Given the description of an element on the screen output the (x, y) to click on. 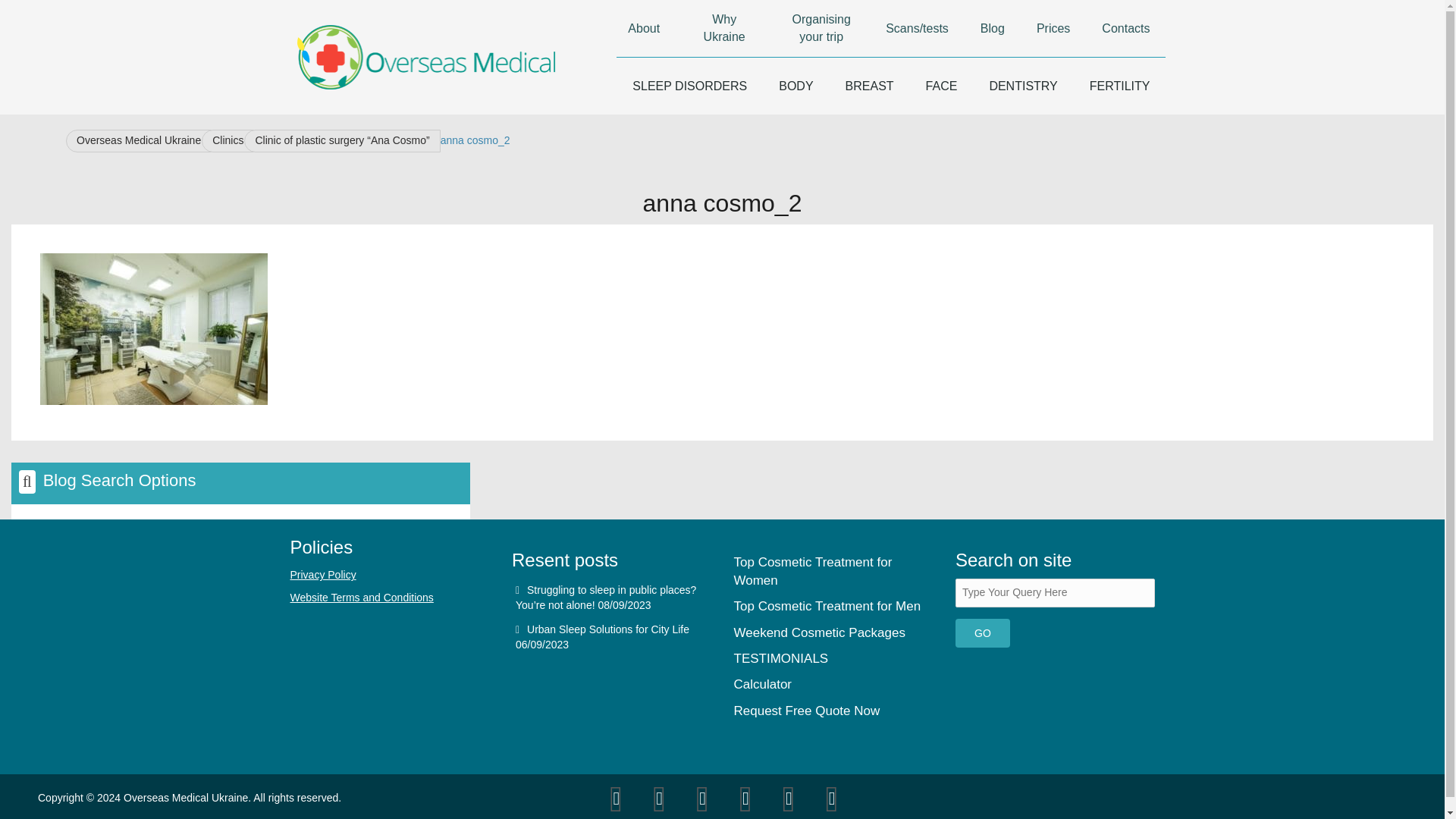
Google-plus (660, 799)
Contacts (1126, 28)
Blog (991, 28)
About (643, 28)
Prices (1053, 28)
Linkedin (788, 799)
BODY (795, 85)
Go to Clinics. (232, 140)
Why Ukraine (724, 28)
Youtube (744, 799)
Go to Overseas Medical Ukraine. (143, 140)
Twitter (616, 799)
Facebook (702, 799)
Instagram (831, 799)
Organising your trip (821, 28)
